Given the description of an element on the screen output the (x, y) to click on. 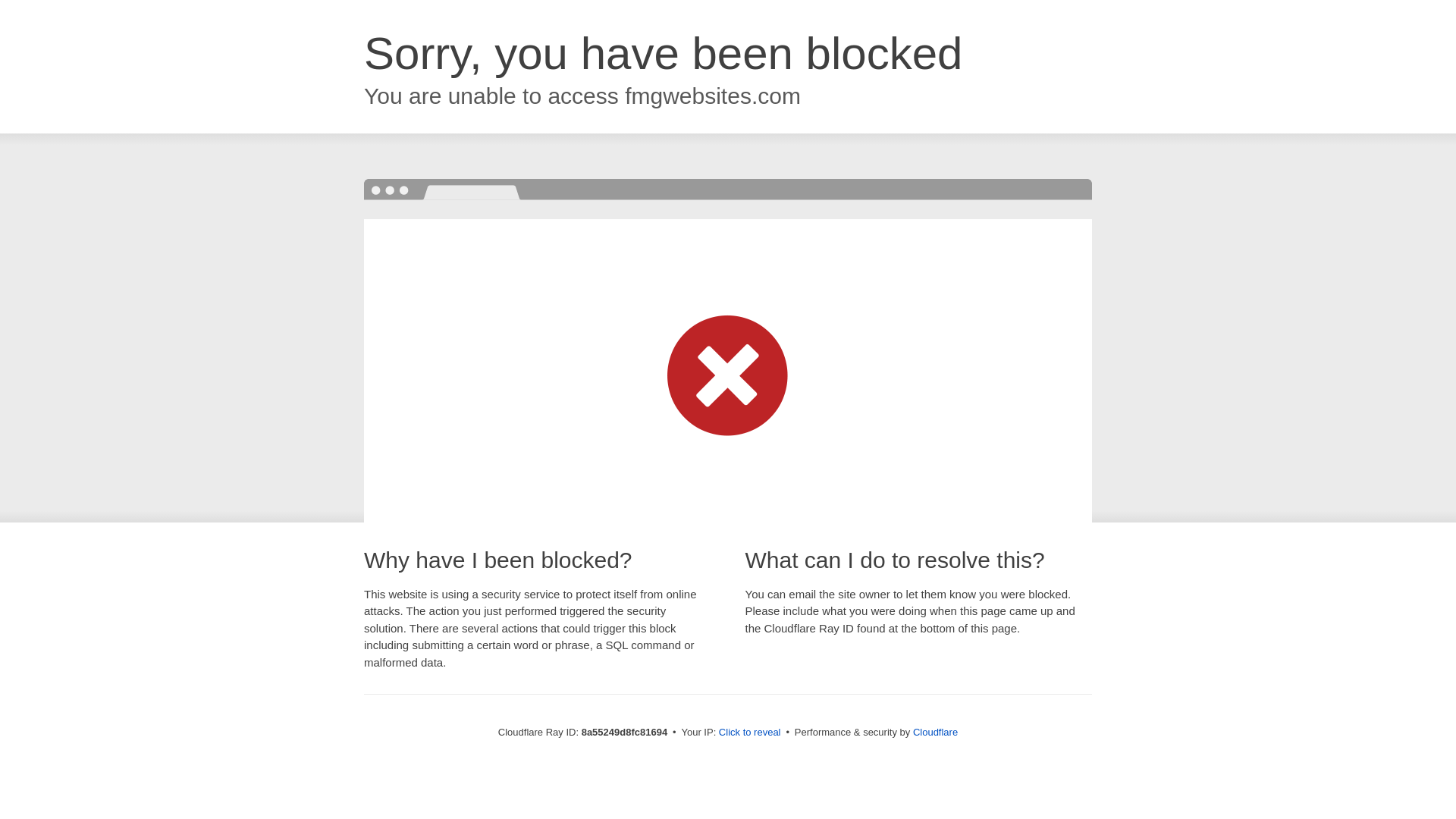
Cloudflare (935, 731)
Click to reveal (749, 732)
